Given the description of an element on the screen output the (x, y) to click on. 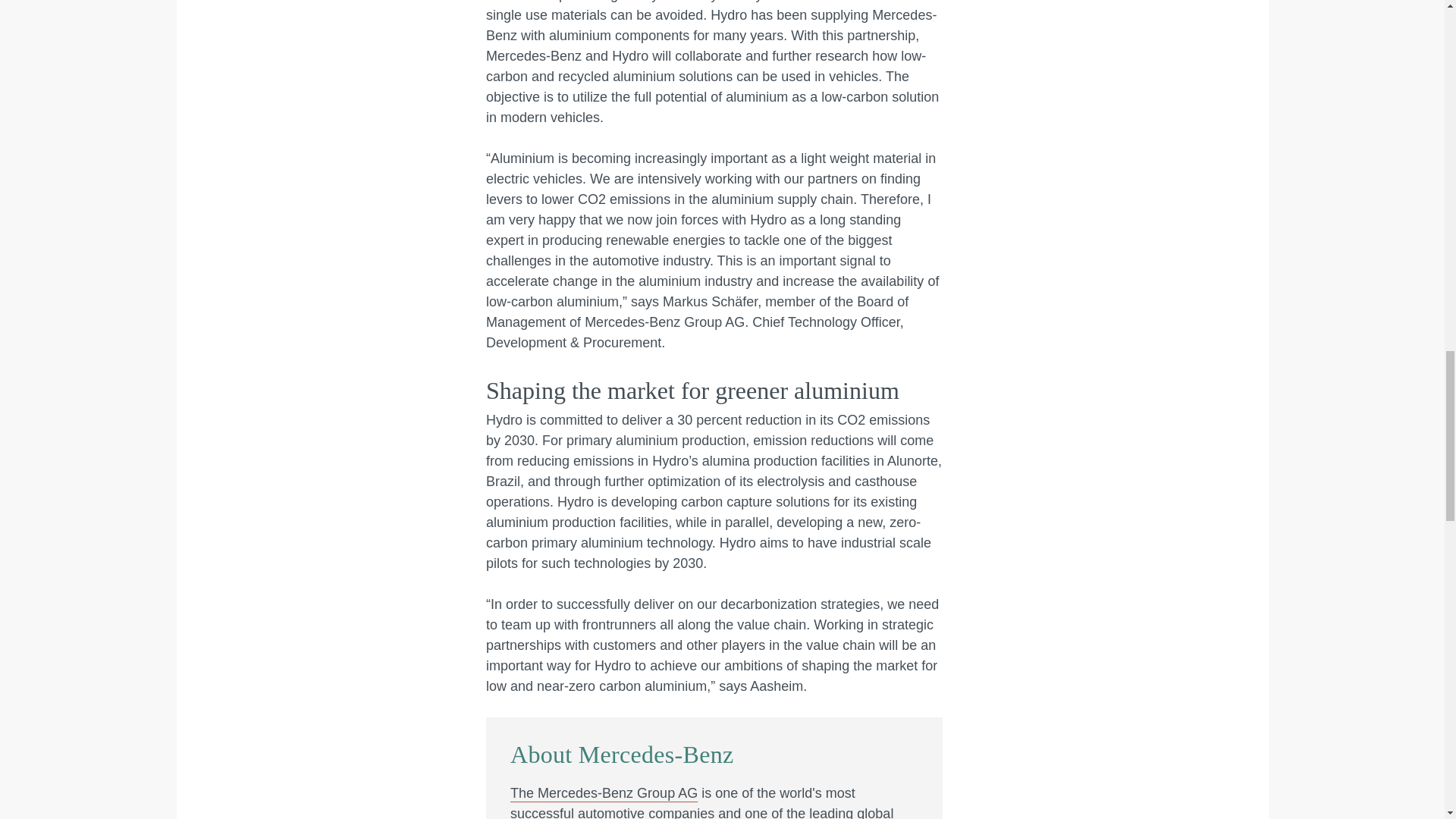
The Mercedes-Benz Group AG (604, 792)
